Given the description of an element on the screen output the (x, y) to click on. 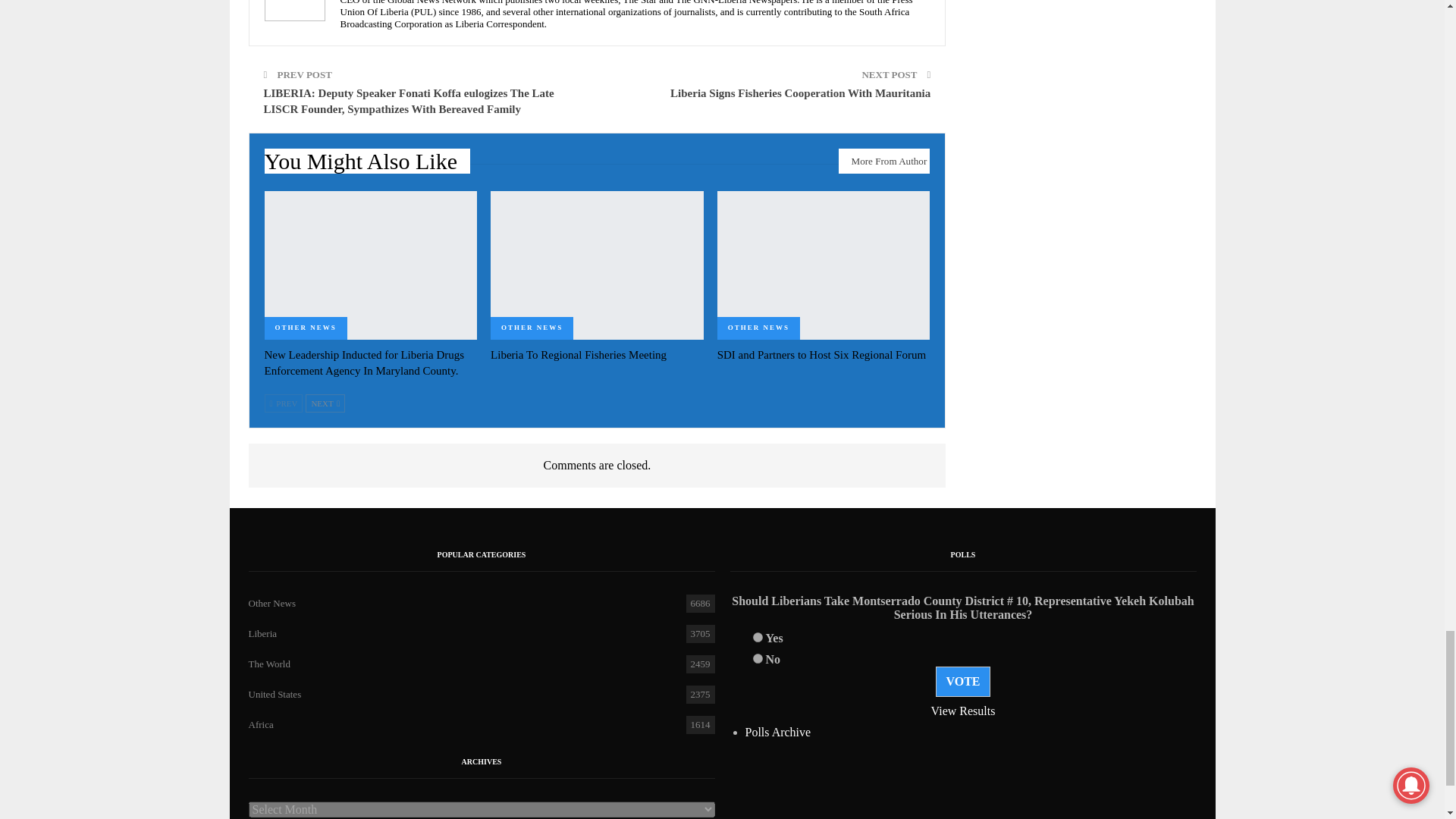
Next (325, 402)
Previous (282, 402)
View Results Of This Poll (963, 710)
Liberia Signs Fisheries Cooperation With Mauritania (799, 92)
More From Author (884, 160)
SDI and Partners to Host Six Regional Forum (821, 354)
SDI and Partners to Host Six Regional Forum (823, 264)
Liberia To Regional Fisheries Meeting (578, 354)
376 (756, 637)
OTHER NEWS (531, 327)
You Might Also Like (366, 164)
Liberia To Regional Fisheries Meeting (596, 264)
